Given the description of an element on the screen output the (x, y) to click on. 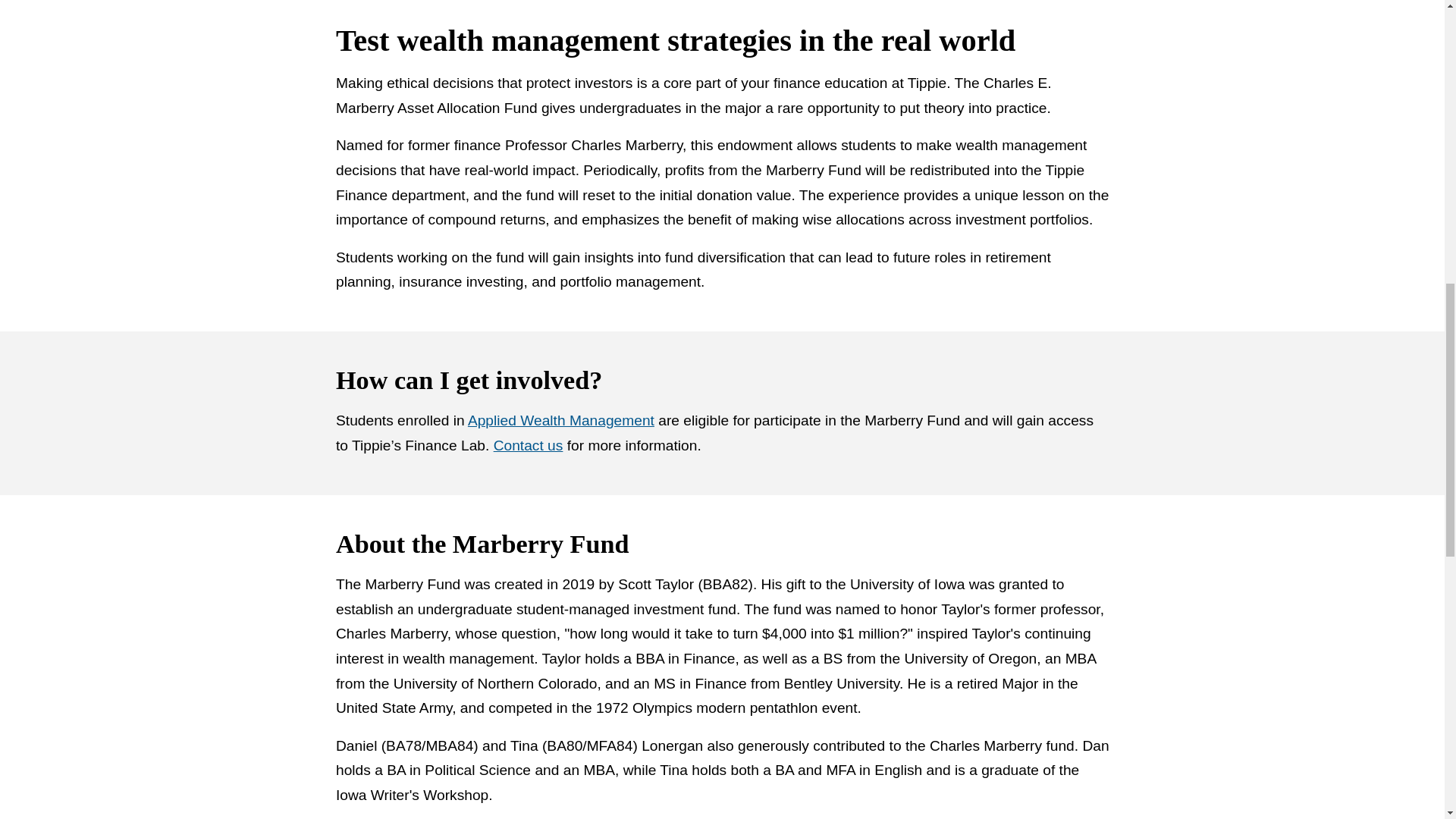
Finance Course Descriptions (560, 420)
